Given the description of an element on the screen output the (x, y) to click on. 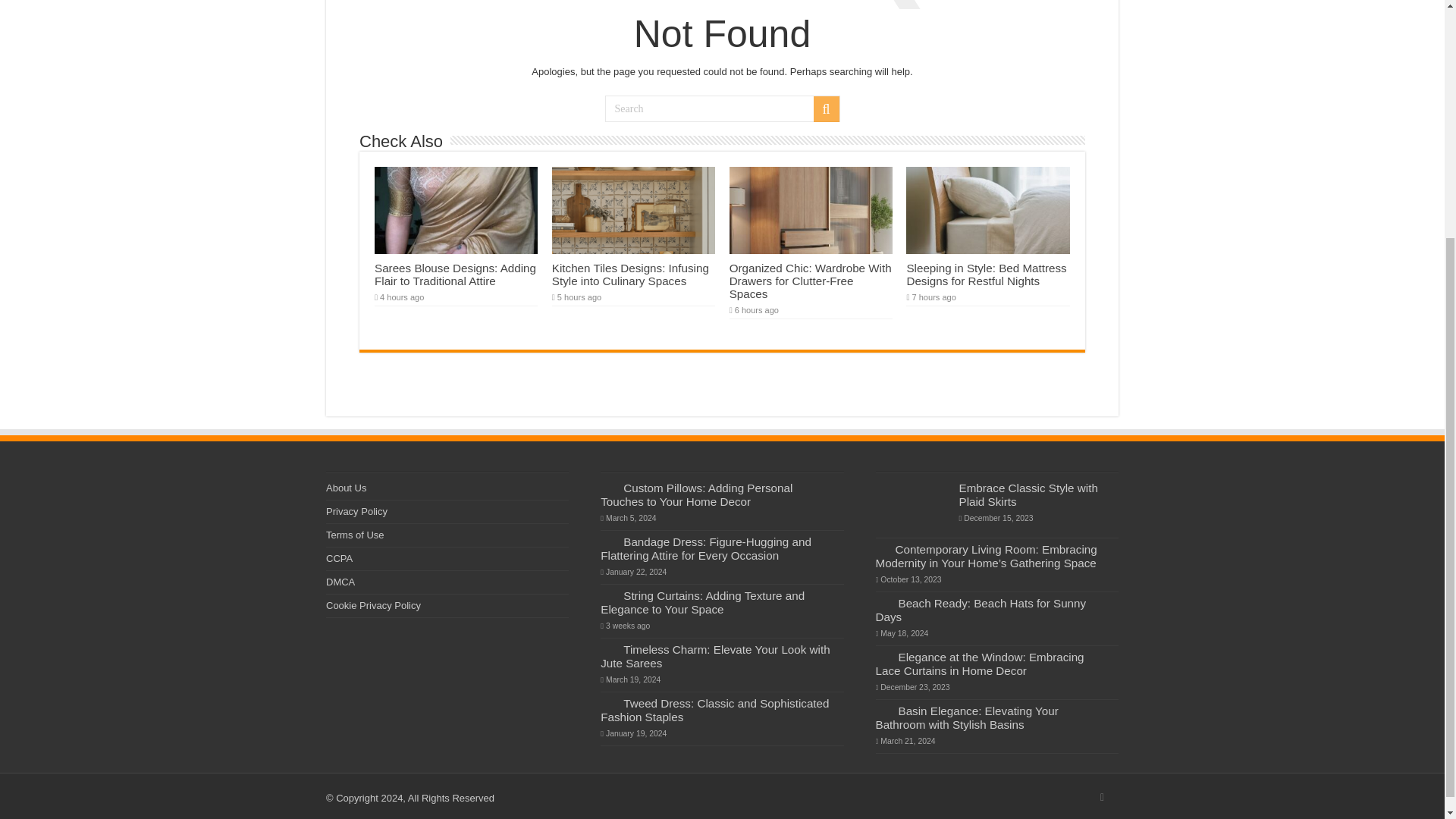
String Curtains: Adding Texture and Elegance to Your Space (702, 601)
CCPA (339, 558)
Search (825, 109)
Terms of Use (355, 534)
Sleeping in Style: Bed Mattress Designs for Restful Nights (985, 274)
Search (722, 108)
Cookie Privacy Policy (373, 604)
Privacy Policy (356, 511)
